Given the description of an element on the screen output the (x, y) to click on. 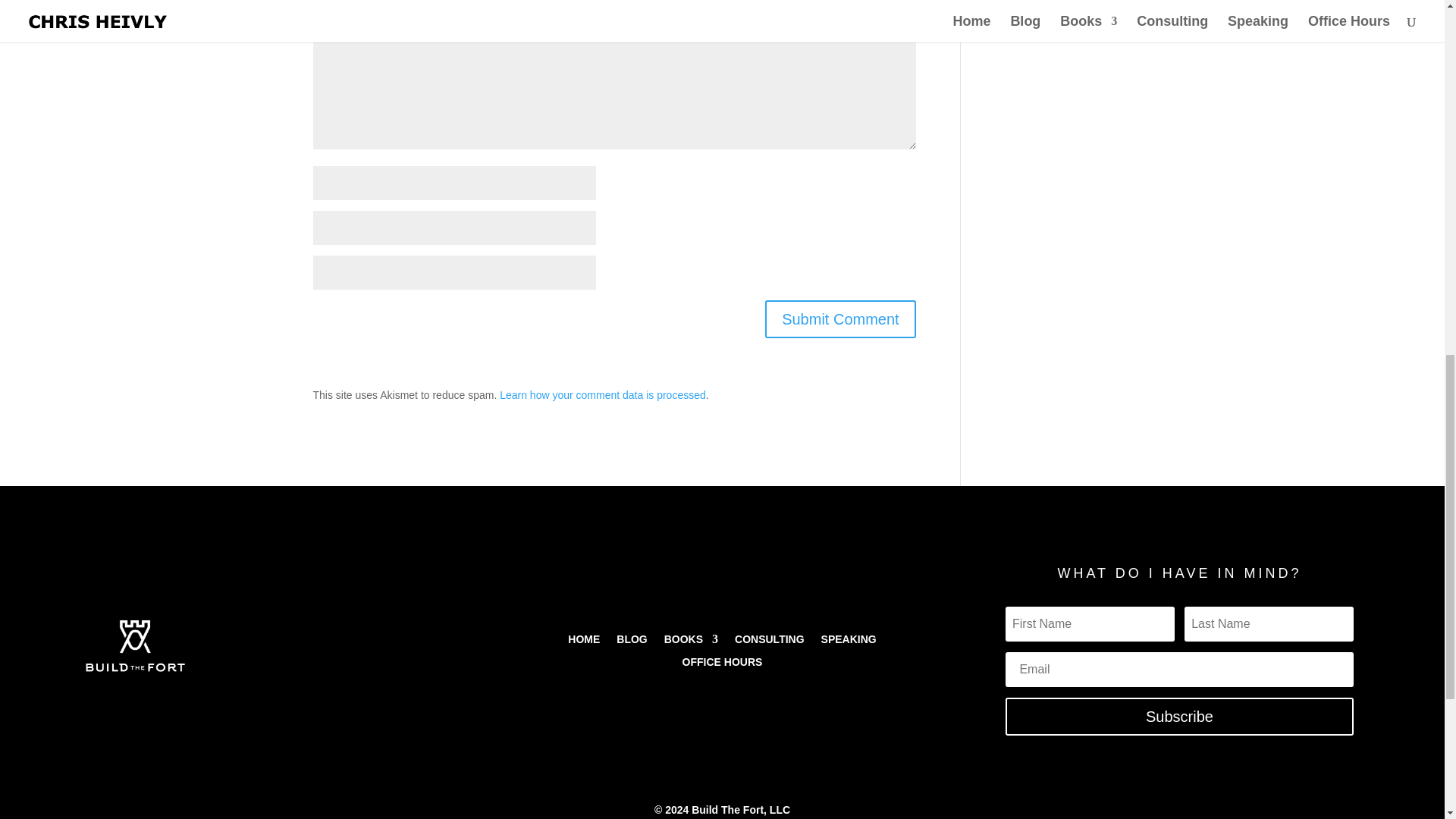
BLOG (630, 641)
BTF-WITHOUT-BACKGROUNDTRANSwht (134, 645)
HOME (583, 641)
Submit Comment (840, 319)
Learn how your comment data is processed (602, 395)
BOOKS (690, 641)
Submit Comment (840, 319)
CONSULTING (770, 641)
